Given the description of an element on the screen output the (x, y) to click on. 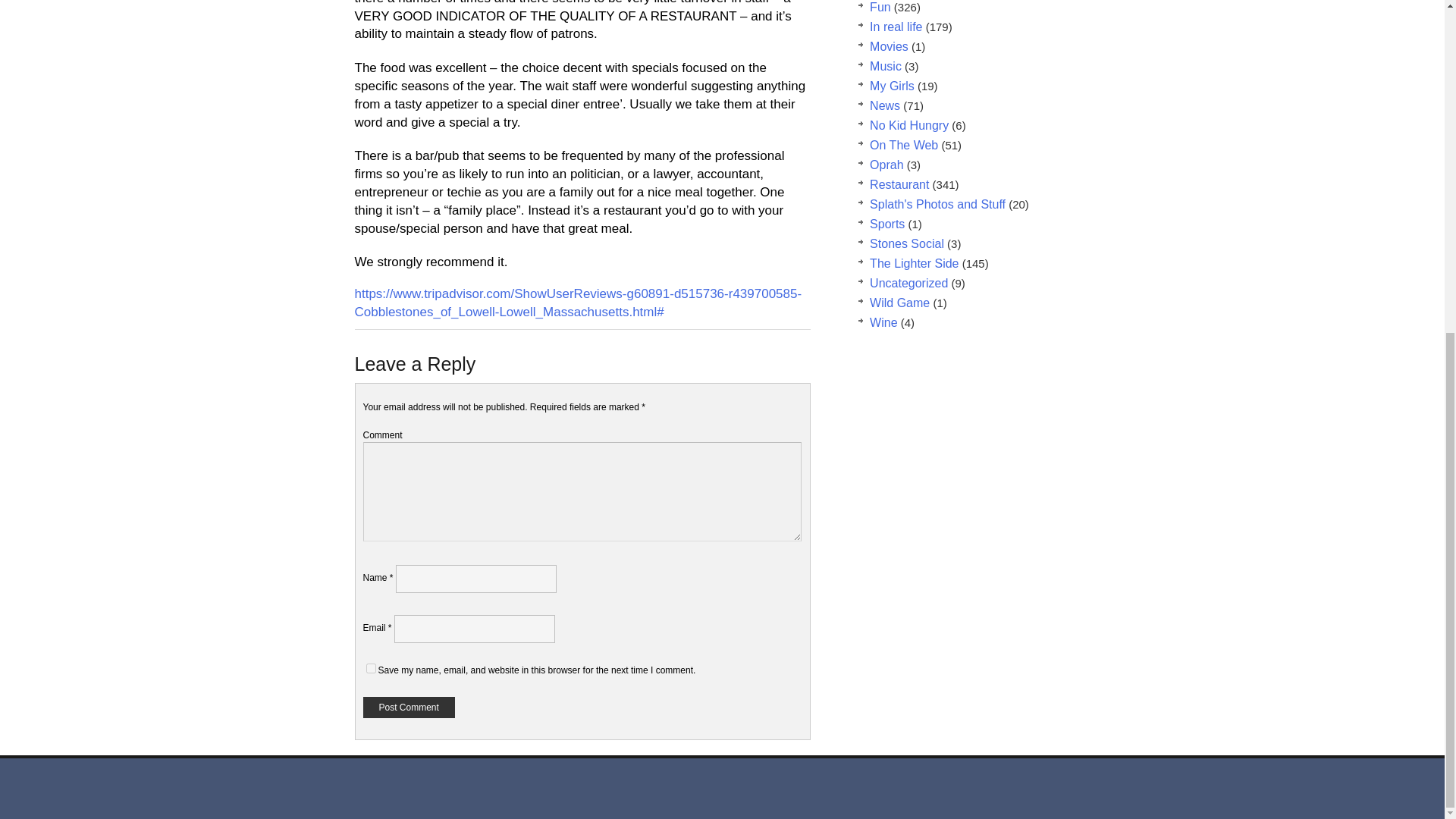
Sports (886, 223)
No Kid Hungry (909, 124)
Post Comment (408, 707)
News (884, 105)
Oprah (885, 164)
On The Web (903, 144)
In real life (895, 26)
My Girls (891, 85)
Movies (888, 46)
yes (370, 668)
